Given the description of an element on the screen output the (x, y) to click on. 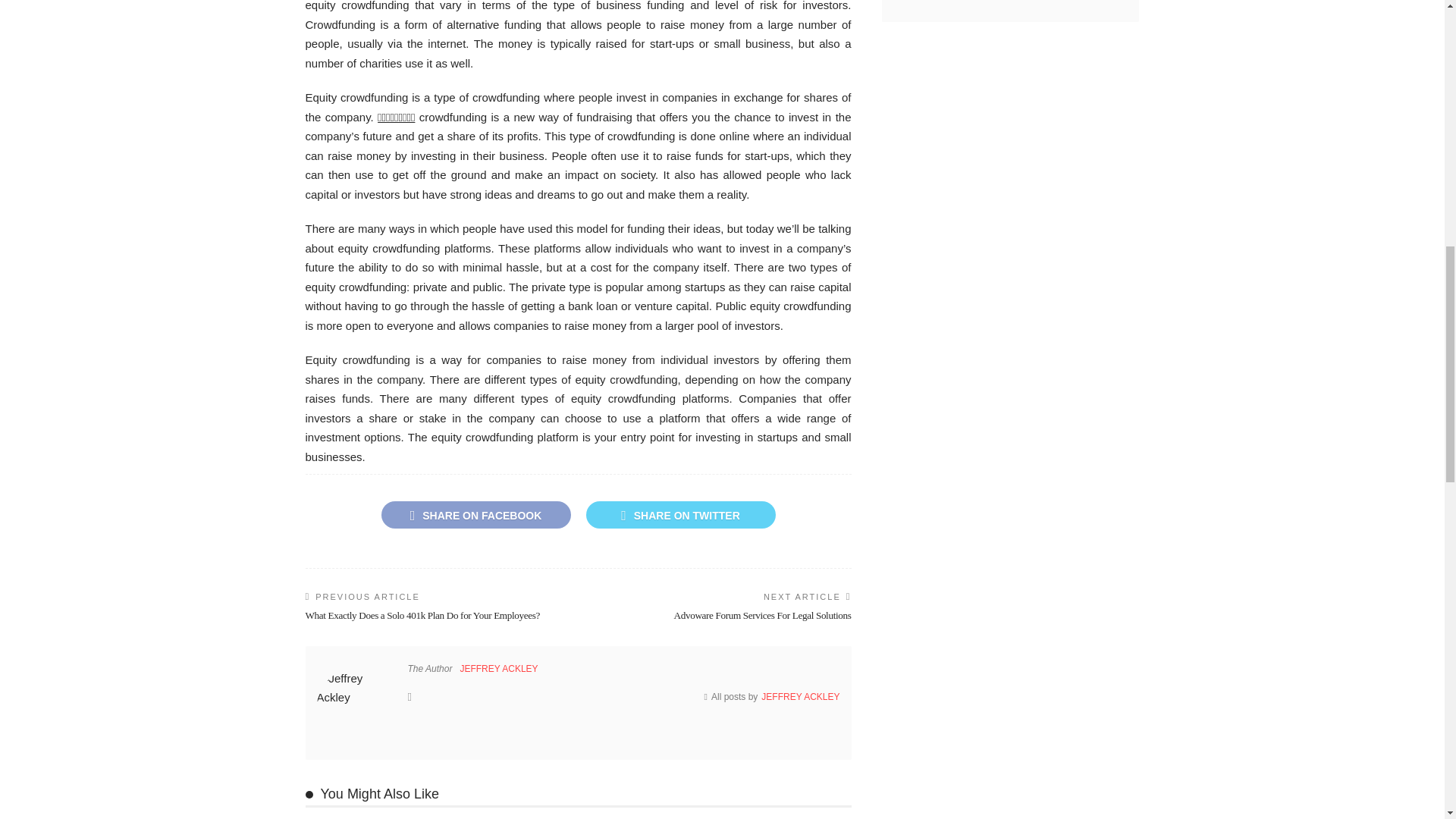
What Exactly Does a Solo 401k Plan Do for Your Employees? (421, 614)
SHARE ON TWITTER (679, 514)
What Exactly Does a Solo 401k Plan Do for Your Employees? (421, 614)
Advoware Forum Services For Legal Solutions (762, 614)
Advoware Forum Services For Legal Solutions (762, 614)
SHARE ON FACEBOOK (475, 514)
JEFFREY ACKLEY (800, 696)
JEFFREY ACKLEY (498, 668)
